Given the description of an element on the screen output the (x, y) to click on. 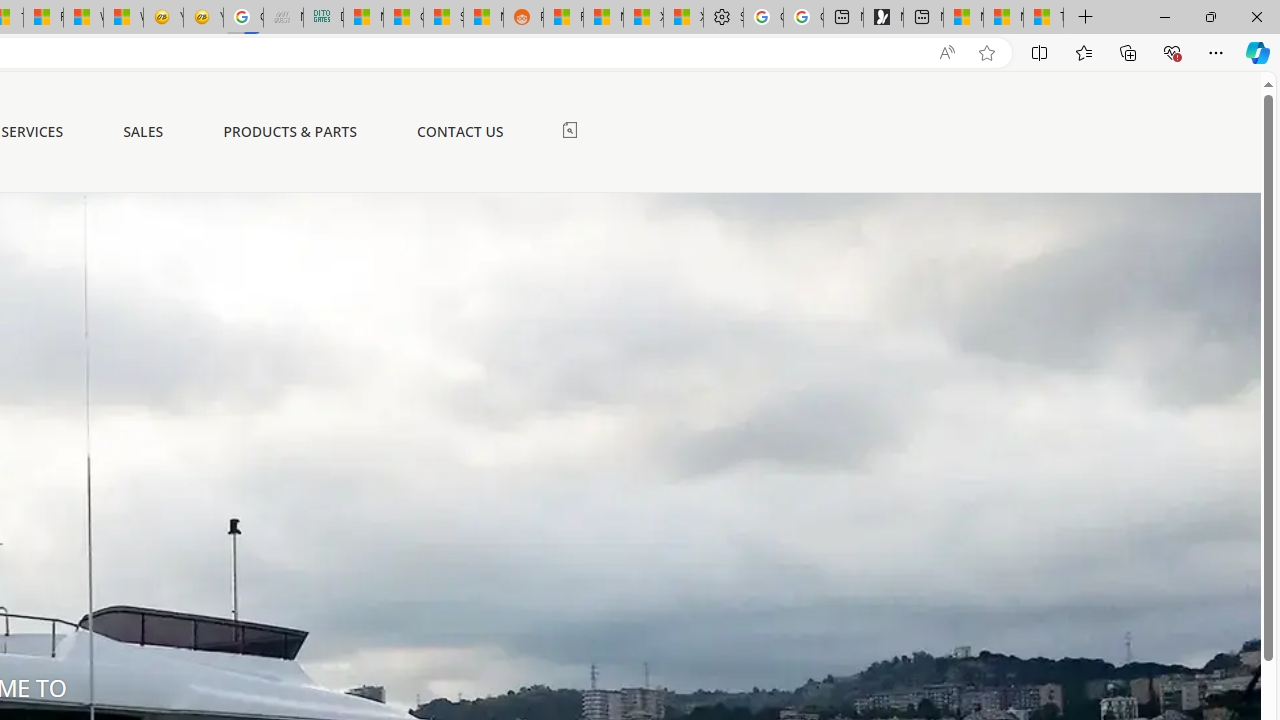
SALES (143, 131)
Fitness - MSN (43, 17)
CONTACT US (459, 131)
SALES (143, 132)
PRODUCTS & PARTS (289, 131)
